Given the description of an element on the screen output the (x, y) to click on. 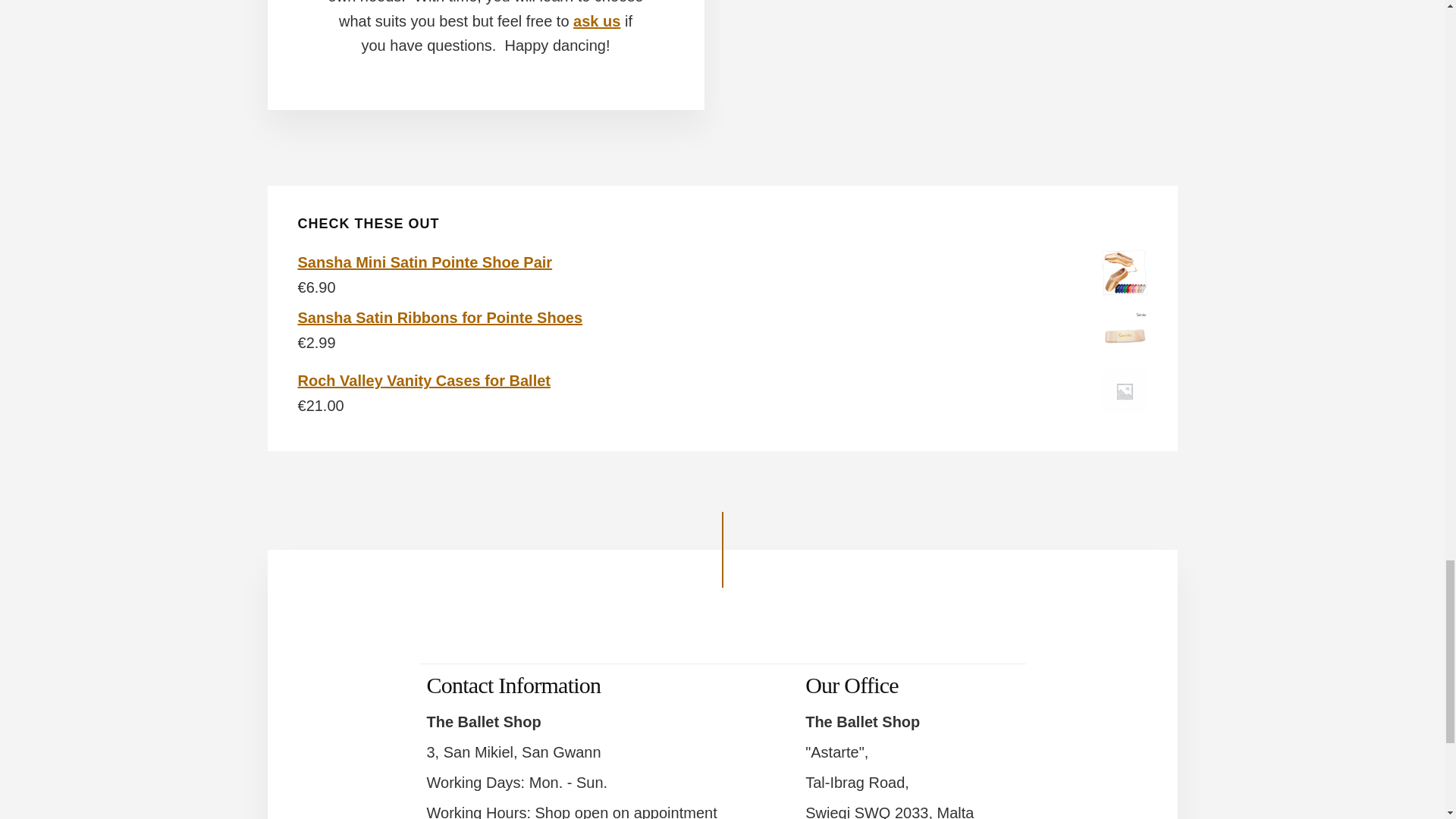
Sansha Satin Ribbons for Pointe Shoes (722, 317)
Roch Valley Vanity Cases for Ballet (722, 380)
ask us (596, 21)
Sansha Mini Satin Pointe Shoe Pair (722, 262)
